Given the description of an element on the screen output the (x, y) to click on. 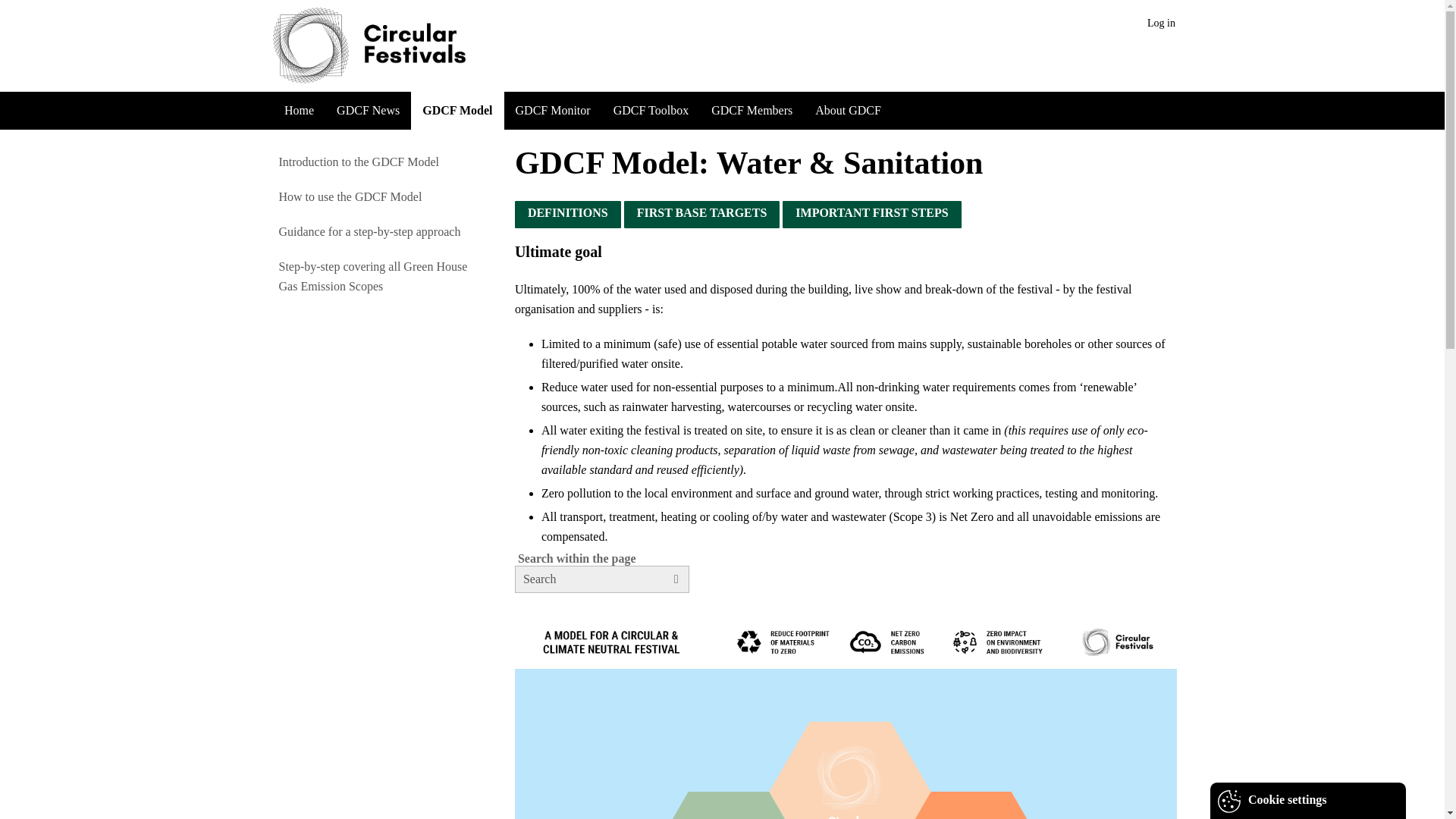
GDCF News (367, 110)
FIRST BASE TARGETS (701, 212)
SEARCH (678, 583)
GDCF Model (456, 110)
Home (298, 110)
GDCF Monitor (552, 110)
About GDCF (847, 110)
Introduction to the GDCF Model (373, 161)
Guidance for a step-by-step approach (373, 231)
GDCF Toolbox (651, 110)
Circular Festivals - Home (412, 45)
DEFINITIONS (567, 212)
Step-by-step covering all Green House Gas Emission Scopes (373, 276)
Log in (1161, 22)
GDCF Members (751, 110)
